Given the description of an element on the screen output the (x, y) to click on. 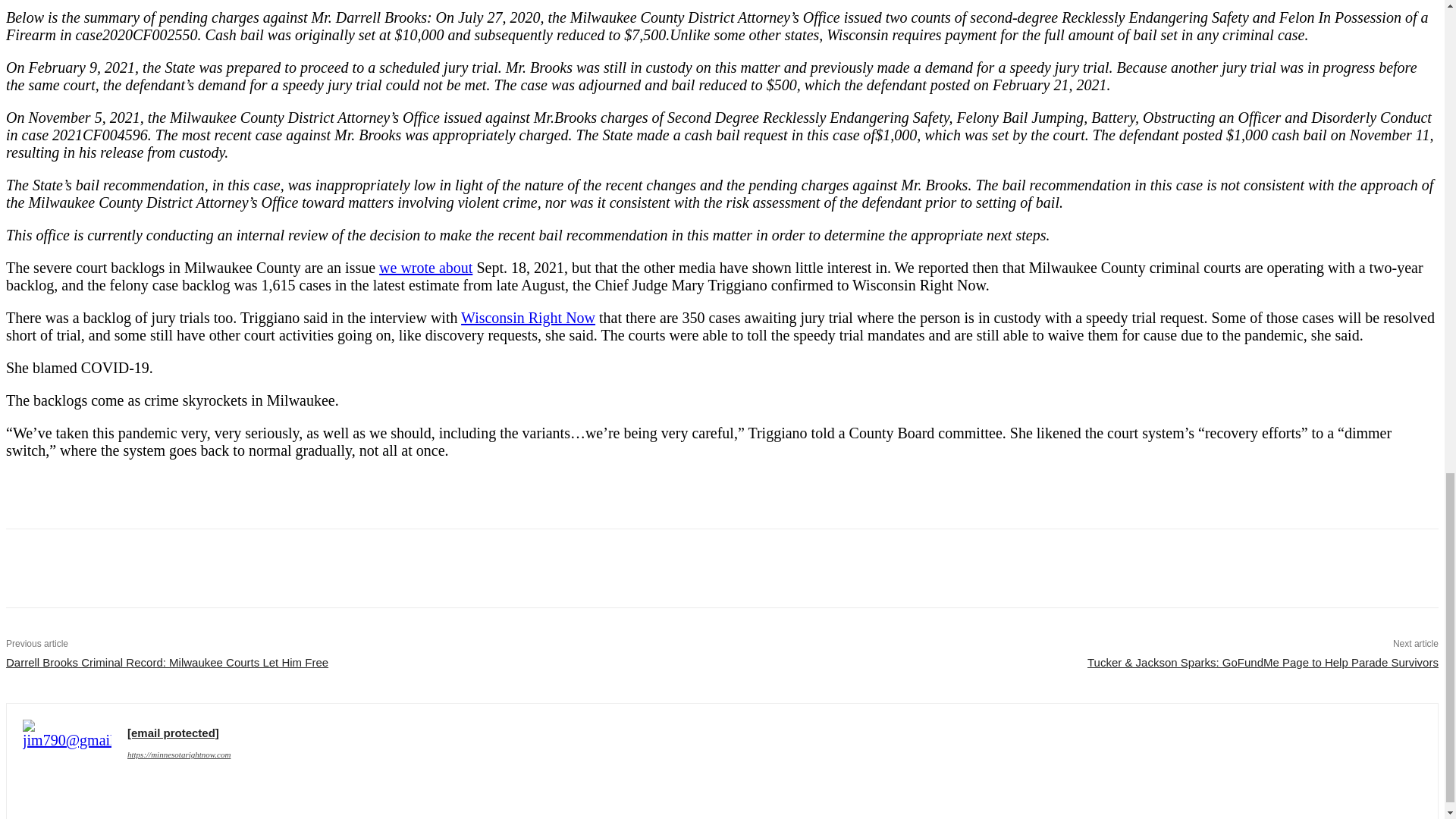
Wisconsin Right Now (528, 317)
we wrote about (424, 267)
